Given the description of an element on the screen output the (x, y) to click on. 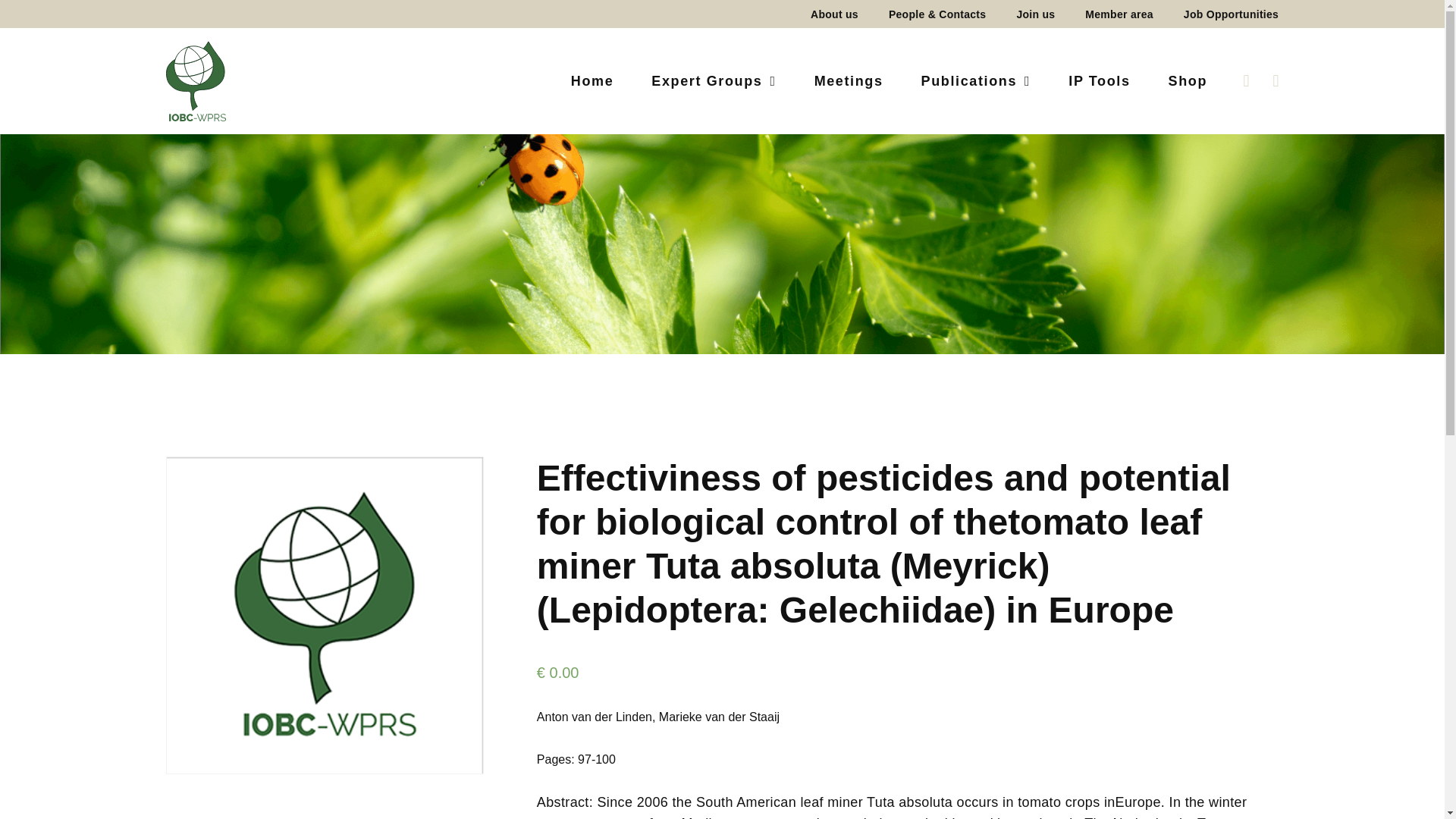
IOBC-WPRS Logo, transparent background, large (195, 80)
Shop (1178, 80)
Member area (1118, 14)
Meetings (848, 80)
Join us (1035, 14)
IP Tools (1098, 80)
Home (592, 80)
Publications (975, 80)
Job Opportunities (1223, 14)
Expert Groups (712, 80)
About us (833, 14)
